Given the description of an element on the screen output the (x, y) to click on. 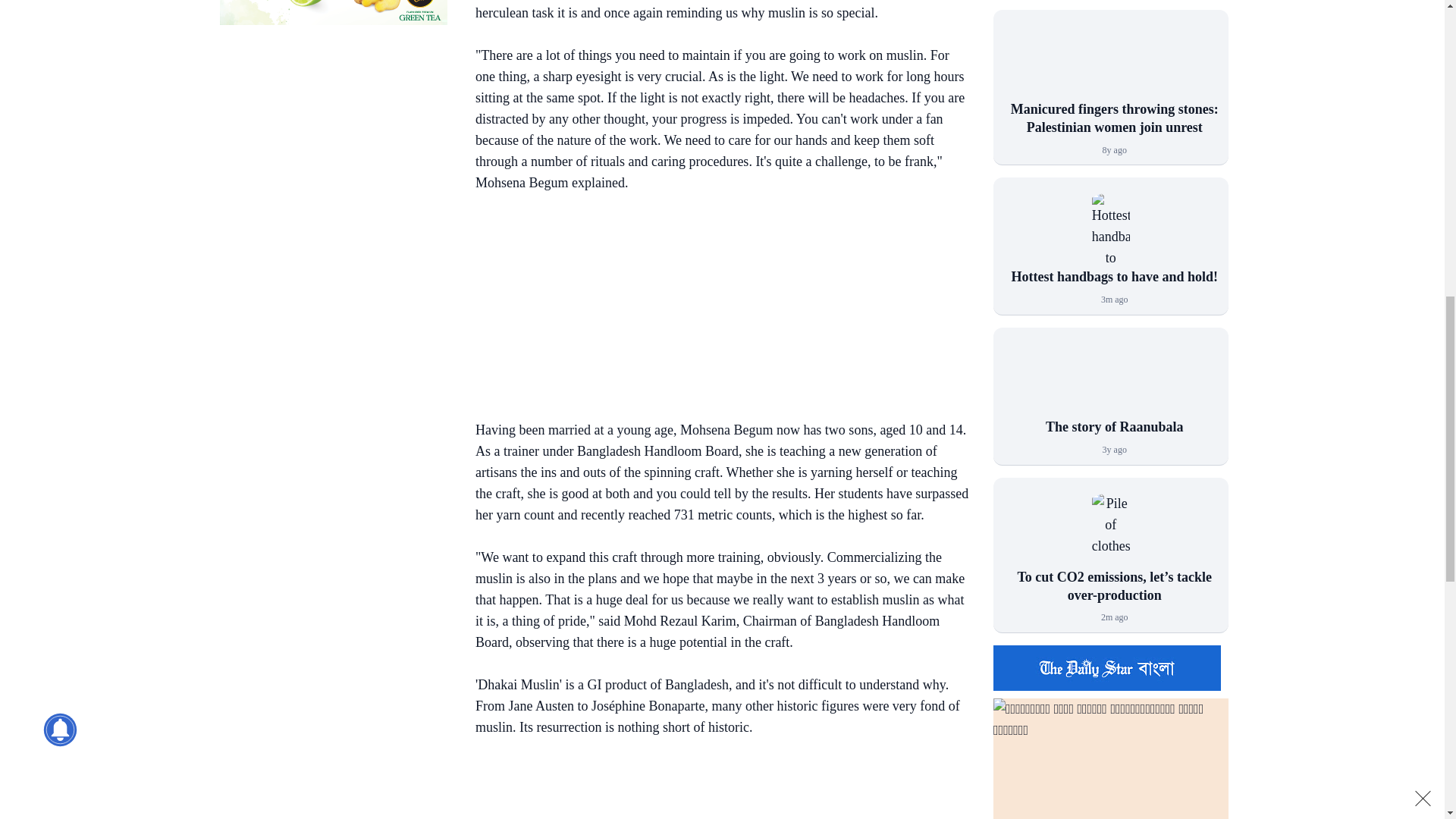
Young Palestinian women (1110, 62)
3rd party ad content (332, 12)
3rd party ad content (332, 135)
3rd party ad content (713, 309)
3rd party ad content (713, 789)
